Given the description of an element on the screen output the (x, y) to click on. 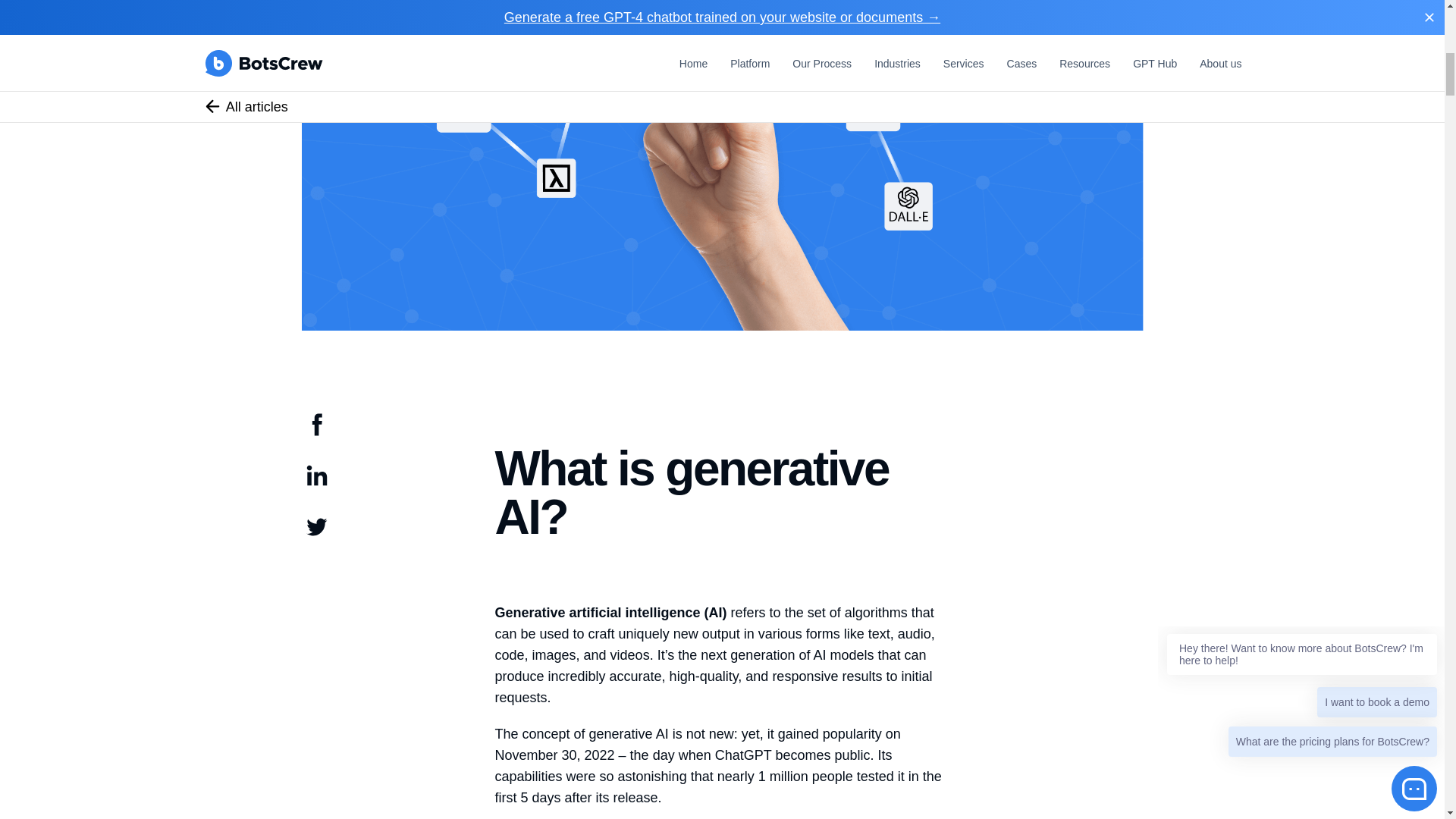
Share on Twitter (316, 537)
Share on Facebook (316, 435)
Share on LinkedIn (316, 485)
